Given the description of an element on the screen output the (x, y) to click on. 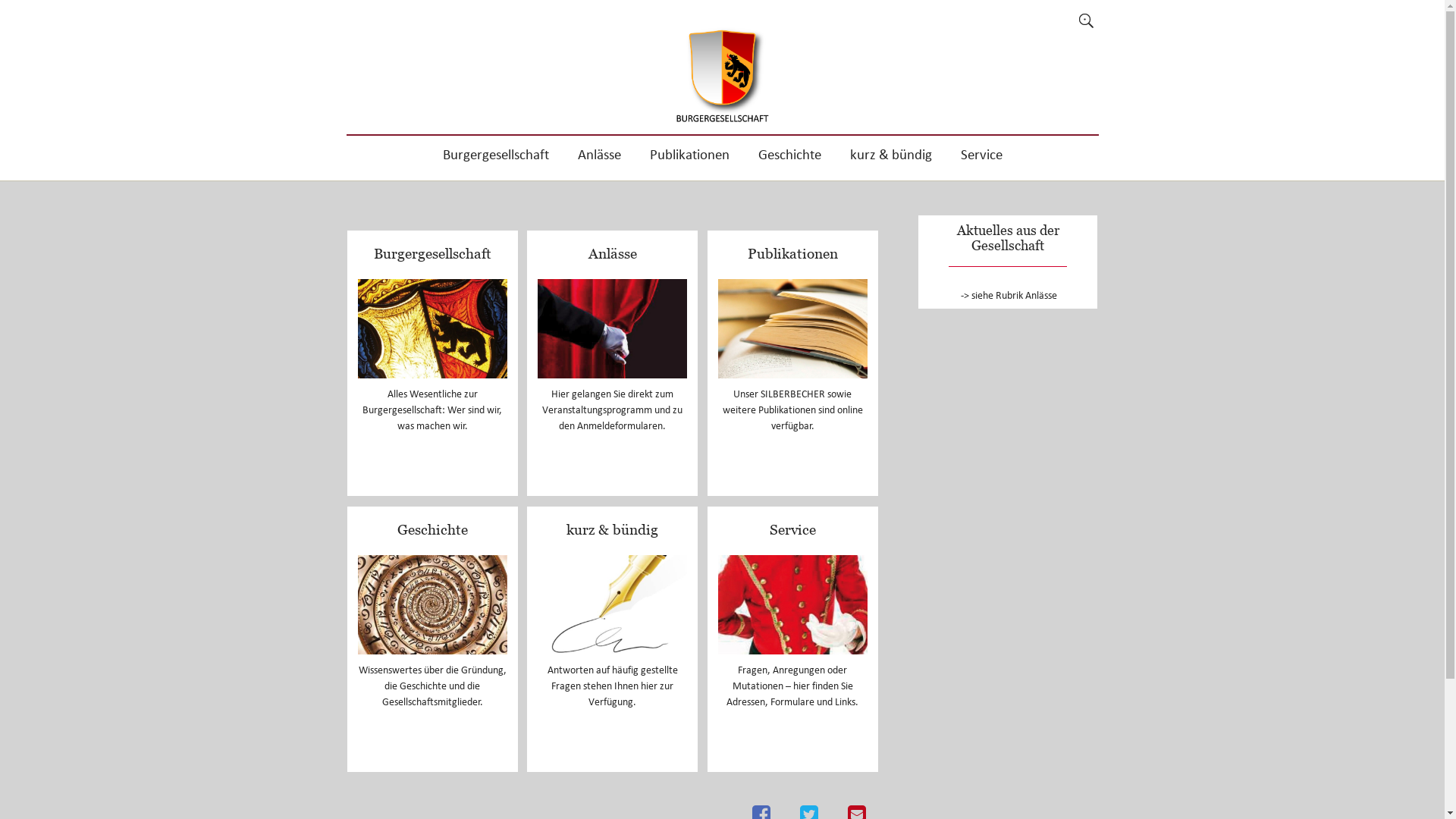
Geschichte Element type: text (432, 529)
Service Element type: text (981, 157)
Publikationen Element type: text (689, 157)
Burgergesellschaft Bern Element type: hover (721, 71)
Publikationen Element type: text (792, 253)
Service Element type: text (792, 529)
Geschichte Element type: text (788, 157)
Burgergesellschaft Element type: text (432, 253)
Burgergesellschaft Element type: text (494, 157)
